Given the description of an element on the screen output the (x, y) to click on. 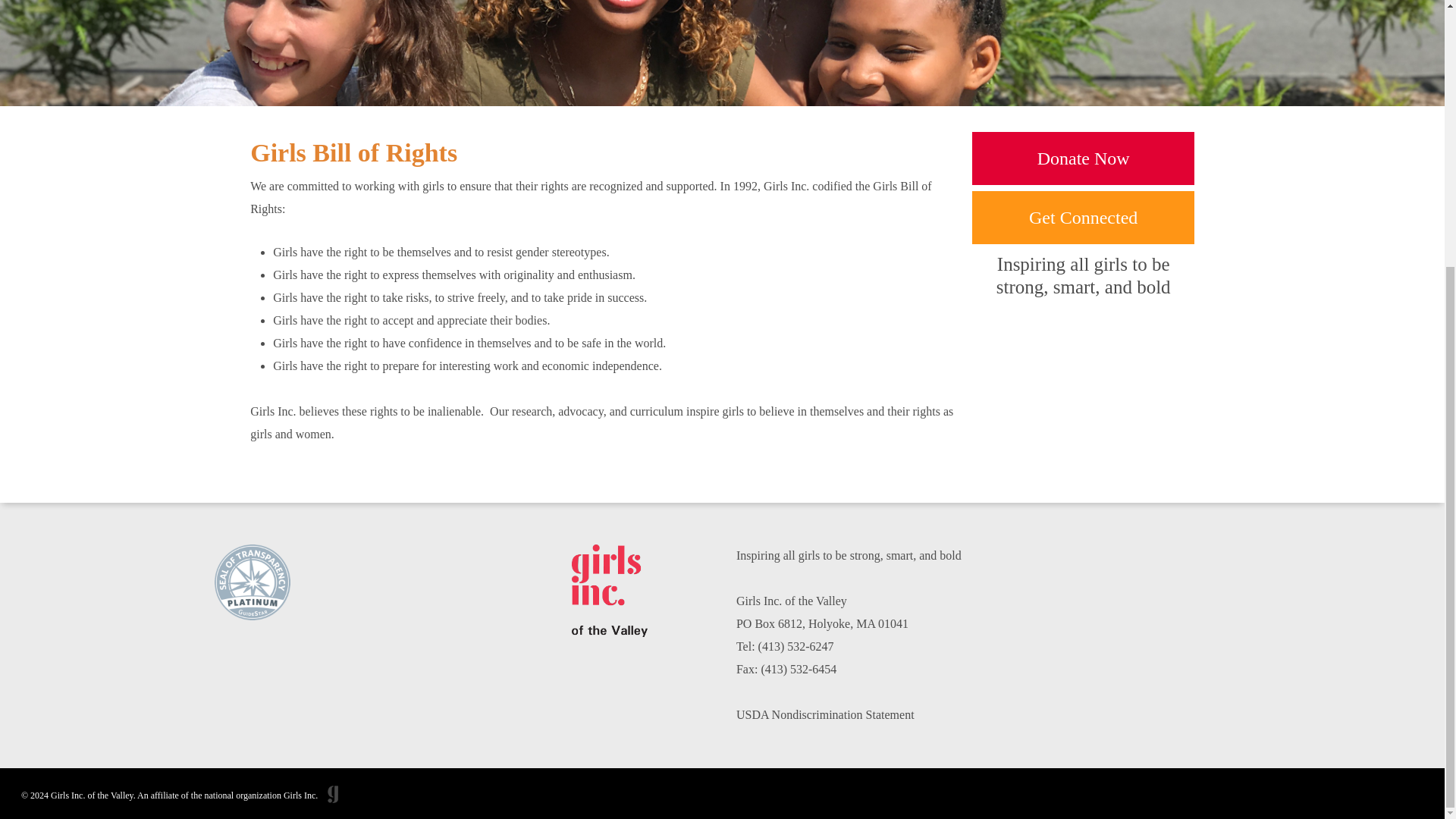
Donate Now (1082, 158)
Get Connected (1082, 217)
